Given the description of an element on the screen output the (x, y) to click on. 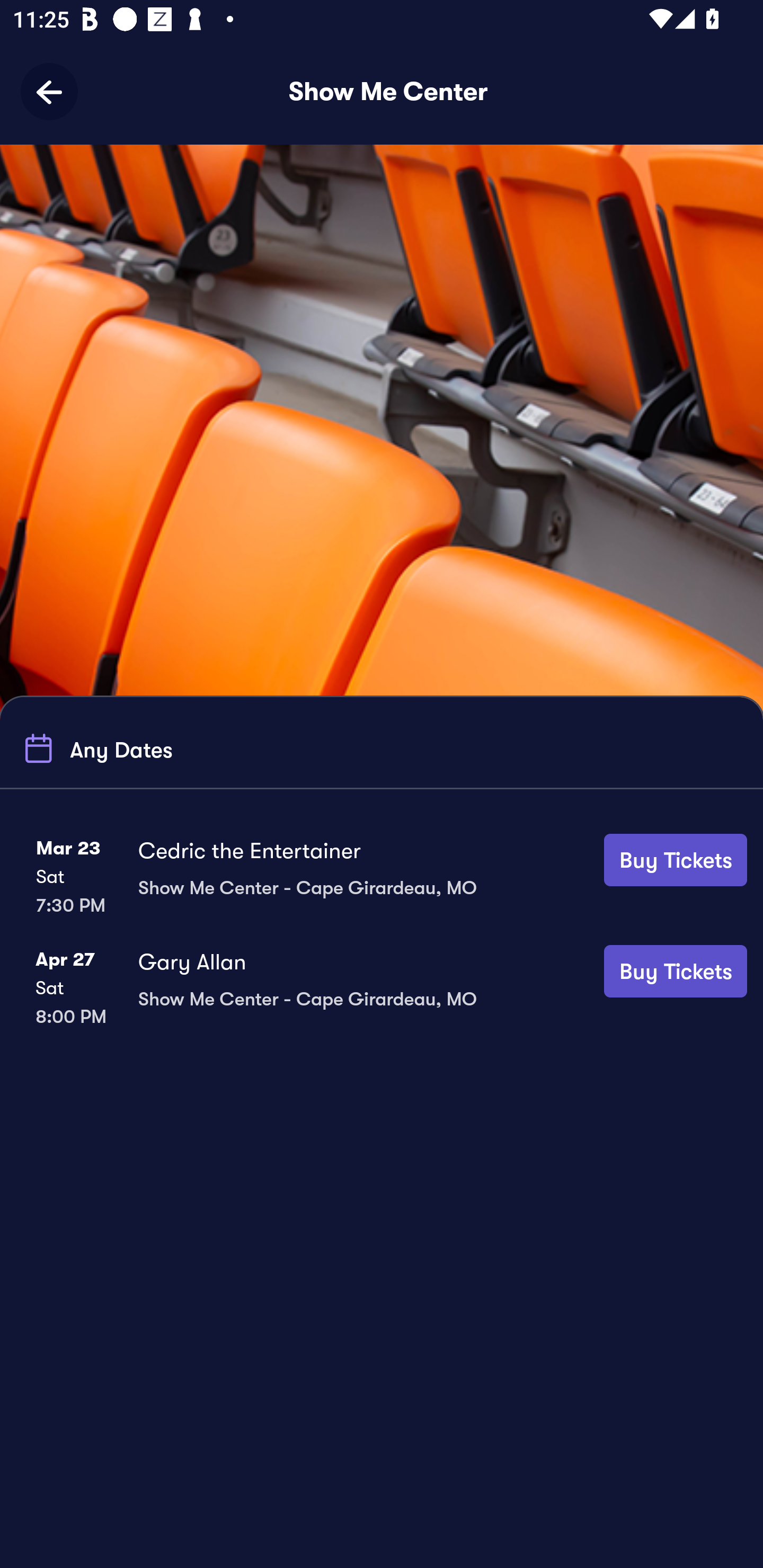
Any Dates (95, 749)
